Given the description of an element on the screen output the (x, y) to click on. 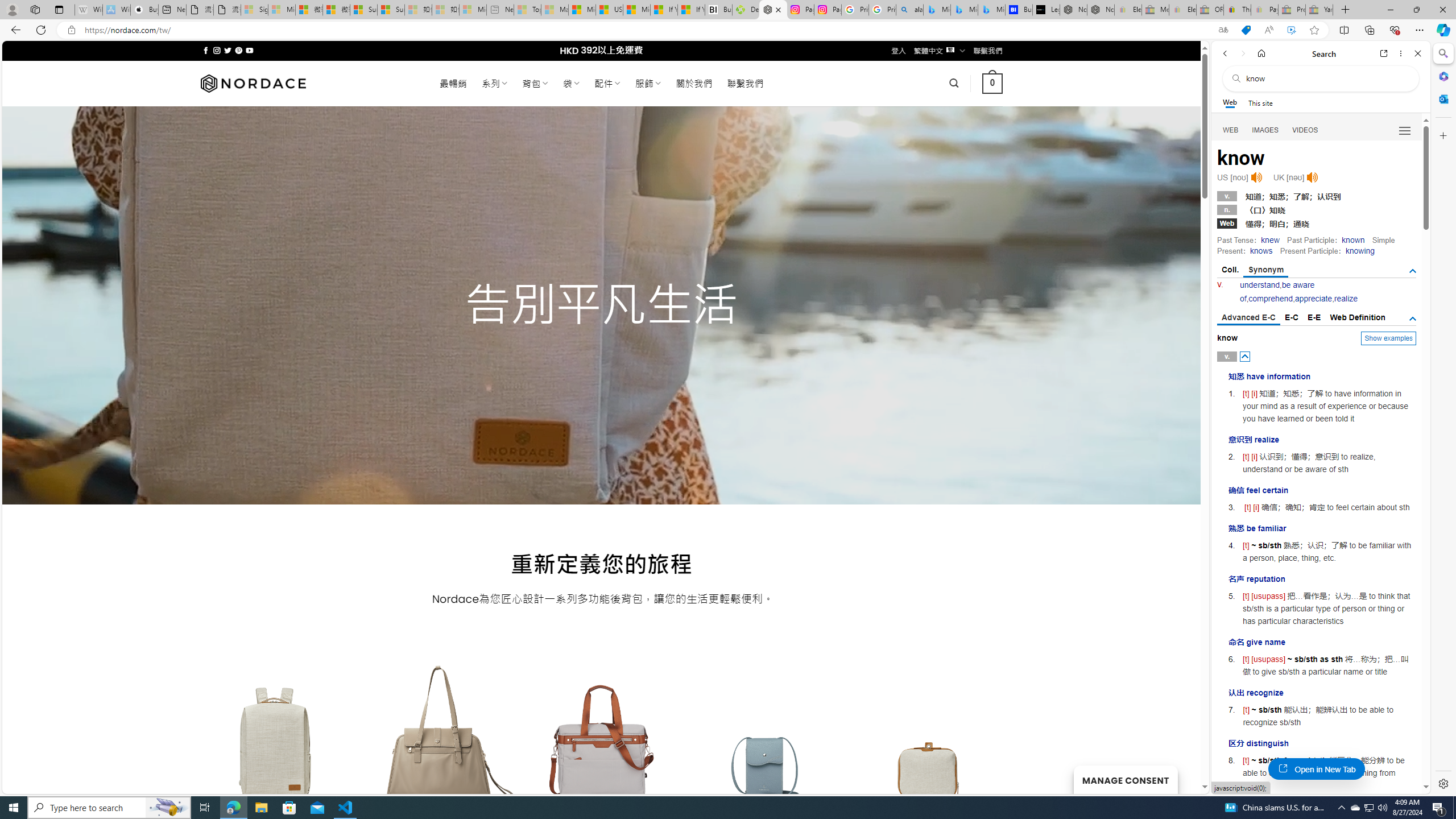
Synonym (1265, 270)
comprehend (1269, 298)
